Given the description of an element on the screen output the (x, y) to click on. 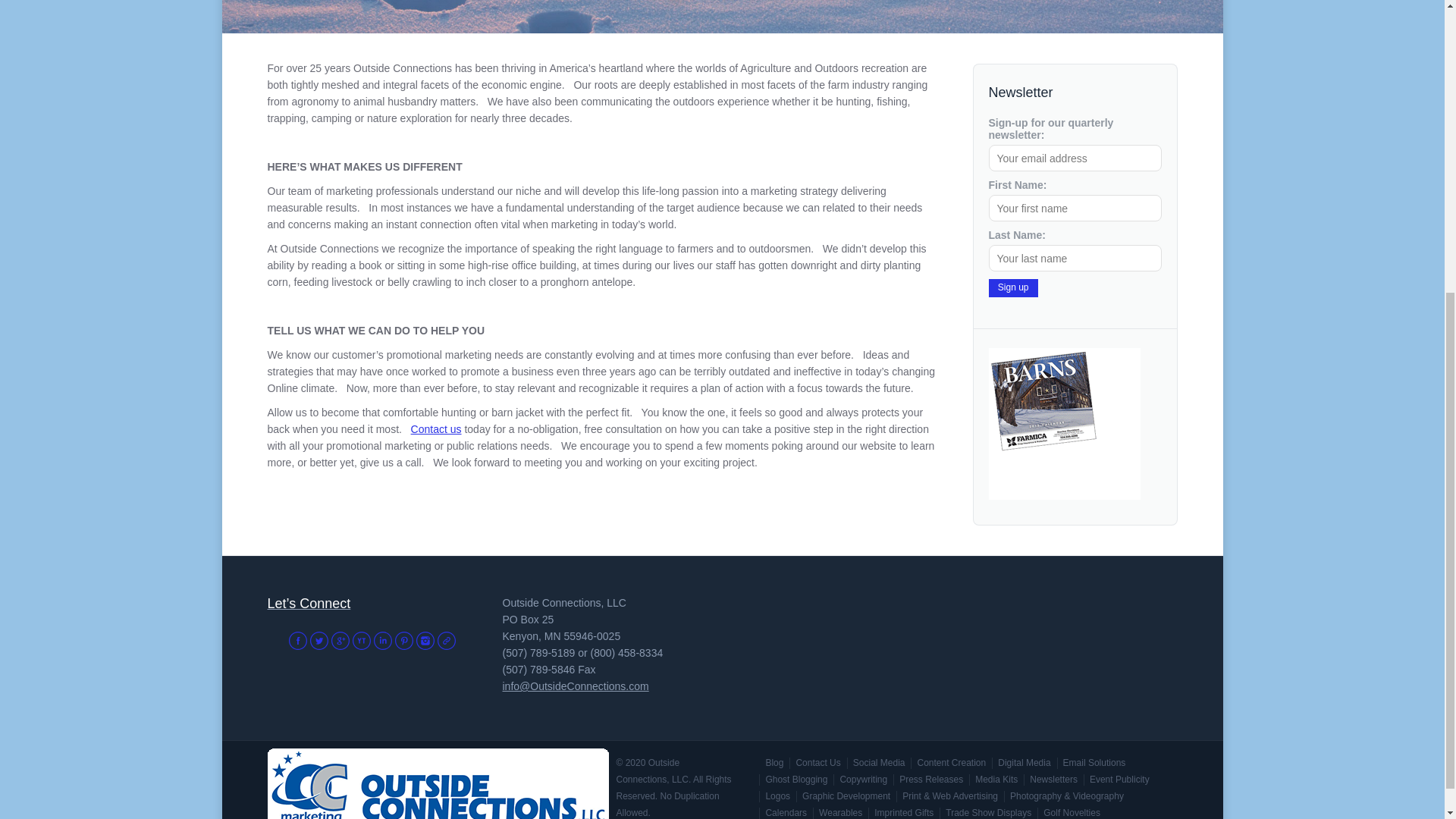
Facebook (296, 640)
Linkedin (381, 640)
Instagram (423, 640)
Pinterest (403, 640)
YouTube (360, 640)
Sign up (1013, 288)
Twitter (317, 640)
Website (445, 640)
